Given the description of an element on the screen output the (x, y) to click on. 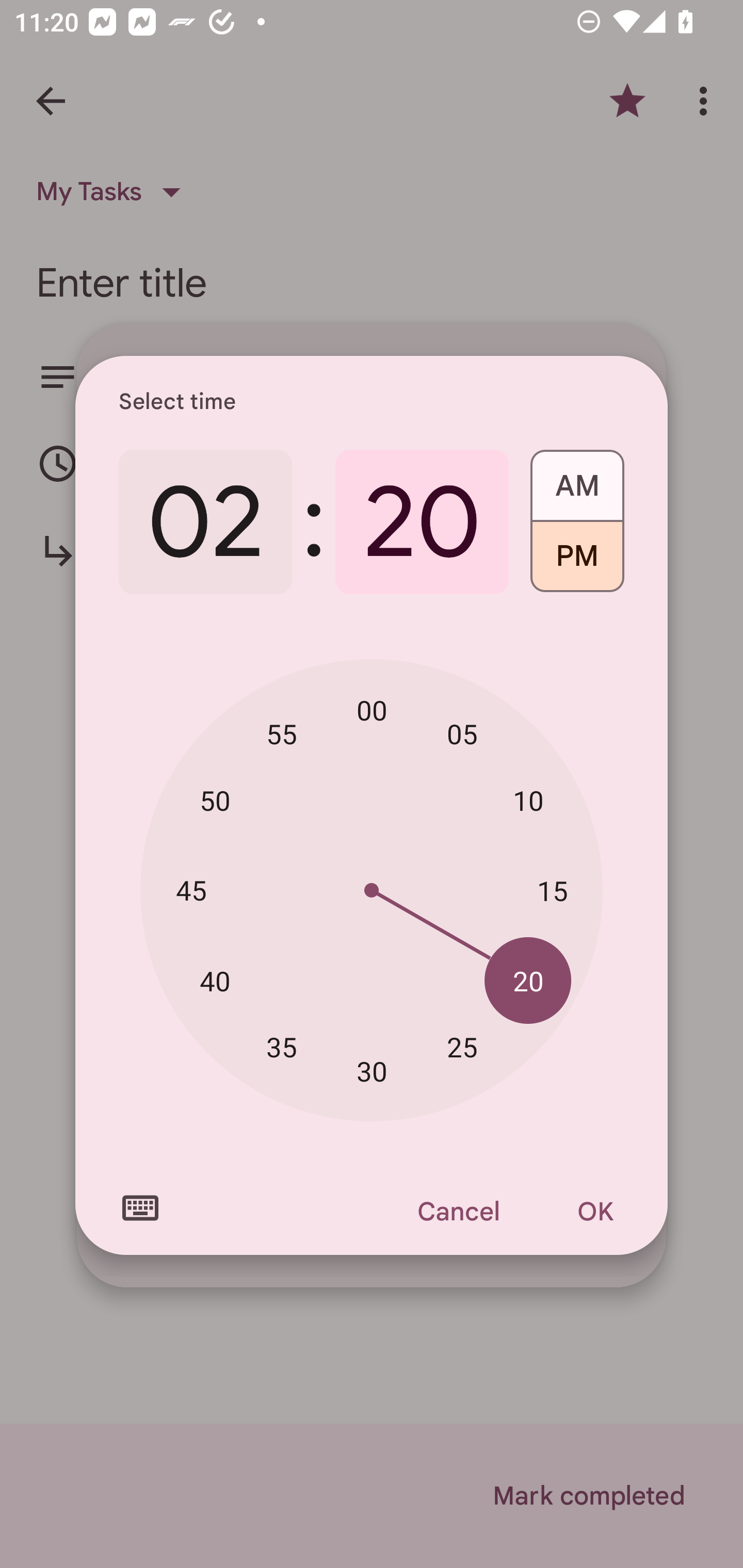
AM (577, 478)
02 2 o'clock (204, 522)
20 20 minutes (421, 522)
PM (577, 563)
00 00 minutes (371, 710)
55 55 minutes (281, 733)
05 05 minutes (462, 733)
50 50 minutes (214, 800)
10 10 minutes (528, 800)
45 45 minutes (190, 889)
15 15 minutes (551, 890)
40 40 minutes (214, 980)
20 20 minutes (528, 980)
35 35 minutes (281, 1046)
25 25 minutes (462, 1046)
30 30 minutes (371, 1071)
Switch to text input mode for the time input. (140, 1208)
Cancel (458, 1211)
OK (595, 1211)
